Given the description of an element on the screen output the (x, y) to click on. 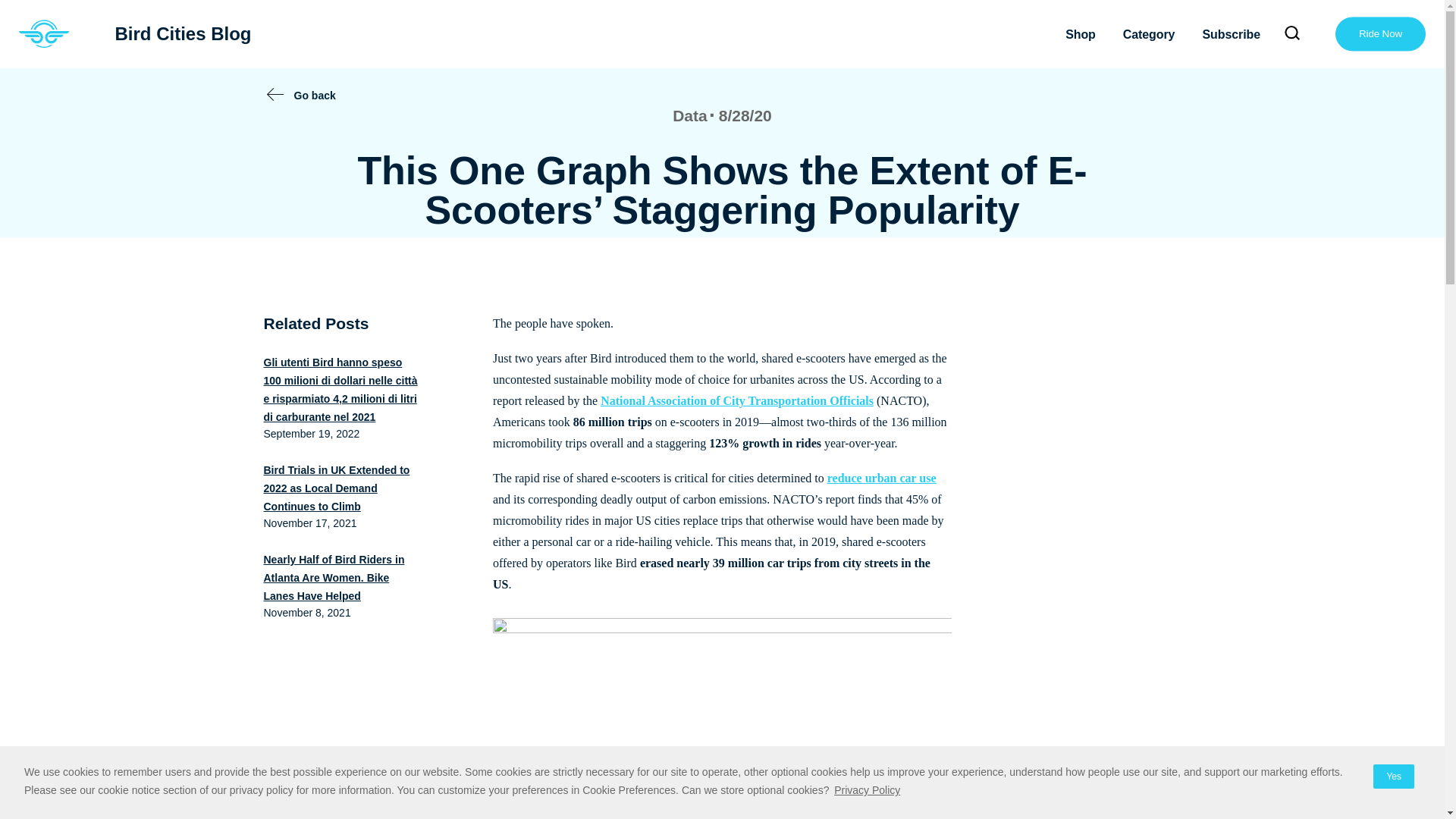
Go back (315, 95)
Subscribe (1230, 33)
Go back (160, 34)
Shop (315, 95)
Yes (1080, 33)
Bird (1393, 776)
National Association of City Transportation Officials (43, 34)
Back to Home Page (736, 400)
Privacy Policy (43, 34)
Bird Cities Blog (866, 790)
